Given the description of an element on the screen output the (x, y) to click on. 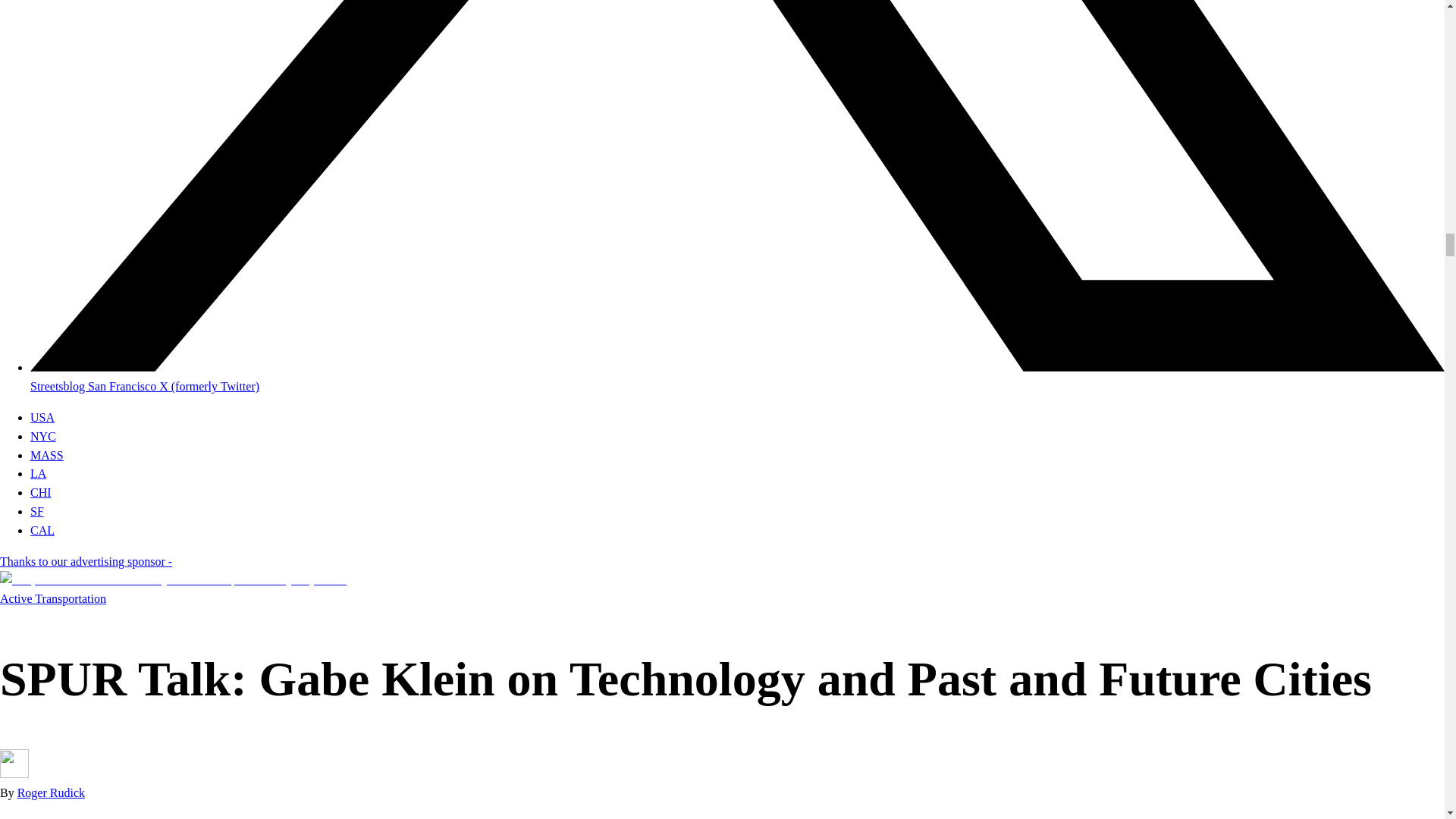
MASS (47, 454)
CHI (40, 492)
Active Transportation (53, 598)
LA (38, 472)
Roger Rudick (50, 792)
USA (42, 417)
CAL (42, 530)
NYC (43, 436)
SF (36, 511)
